Given the description of an element on the screen output the (x, y) to click on. 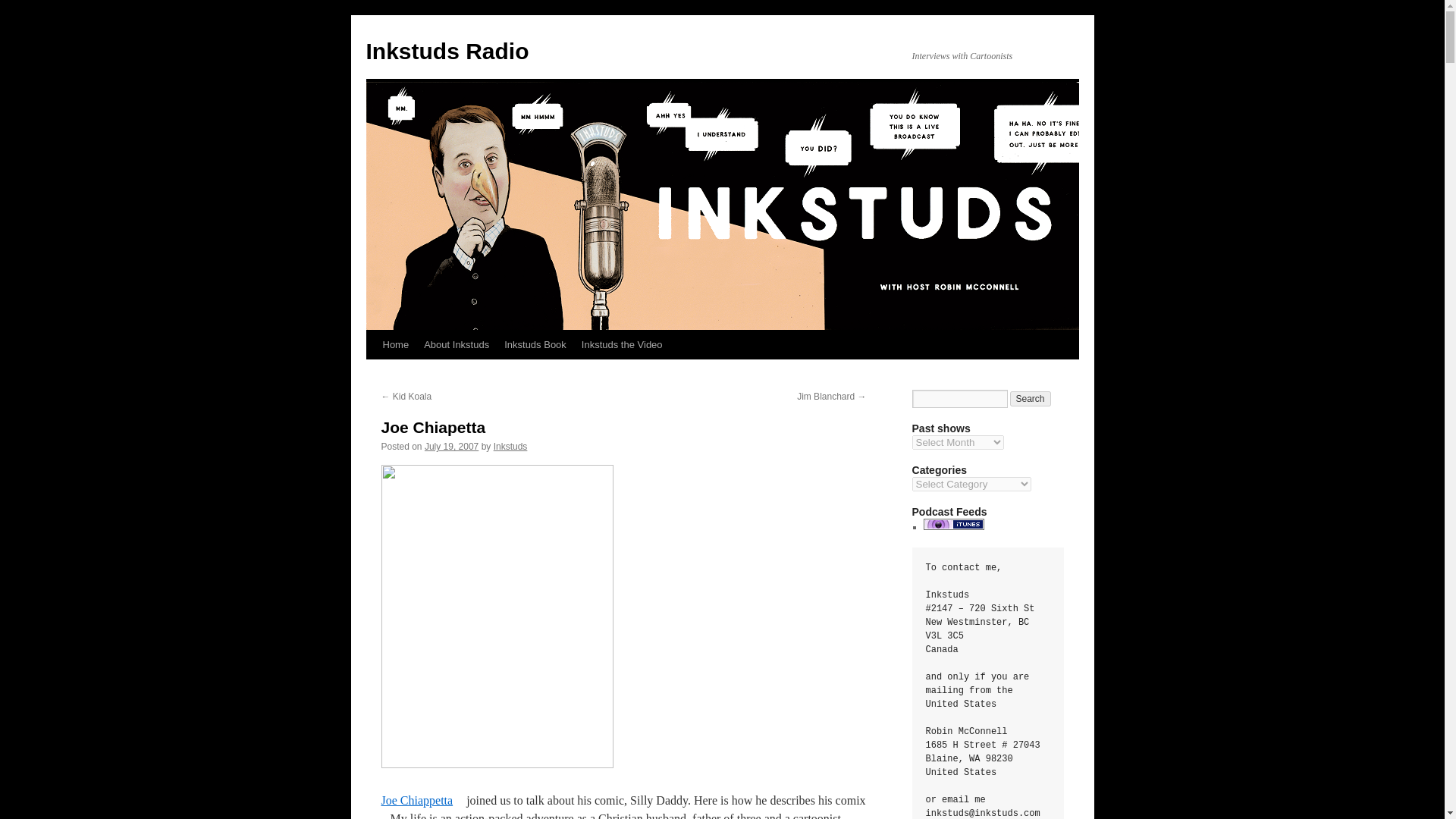
Inkstuds (510, 446)
Inkstuds the Video (621, 344)
Search (1030, 398)
Inkstuds Radio (446, 50)
July 19, 2007 (452, 446)
2:00 pm (452, 446)
Inkstuds Book (534, 344)
Search (1030, 398)
Joe Chiappetta (421, 799)
Subscribe to the Podcast Feed with iTunes (953, 526)
